Given the description of an element on the screen output the (x, y) to click on. 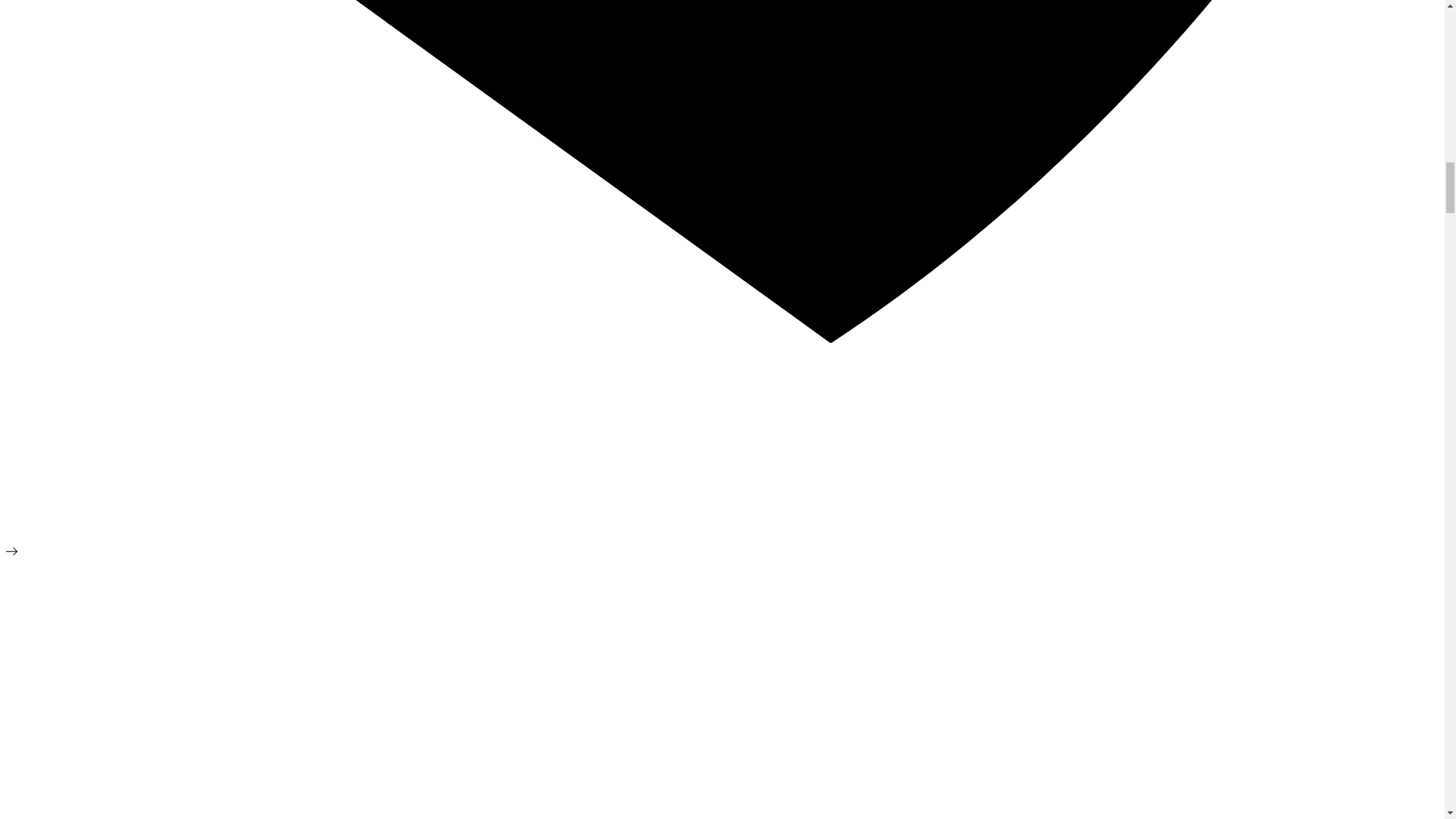
Submit request (41, 454)
Research Request (41, 454)
